Given the description of an element on the screen output the (x, y) to click on. 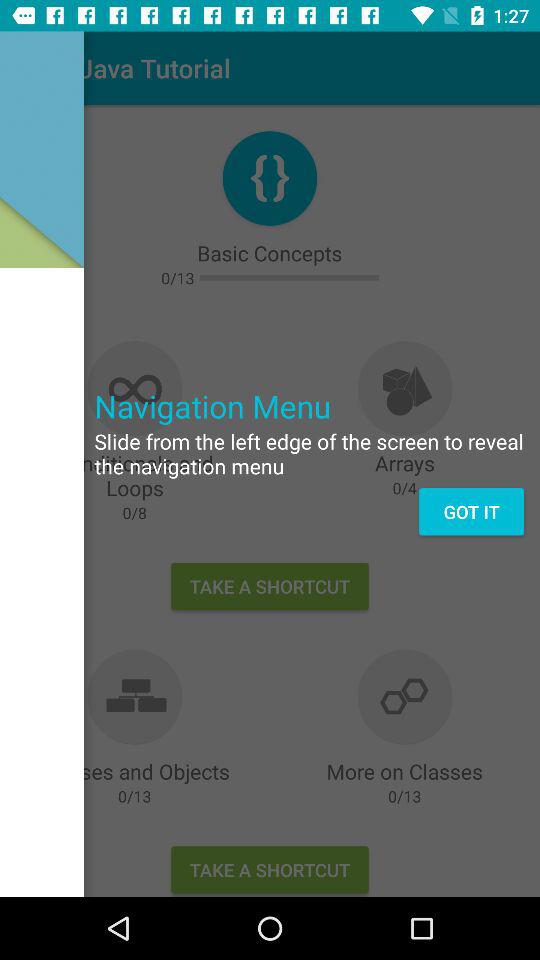
choose the icon on the right (471, 511)
